Given the description of an element on the screen output the (x, y) to click on. 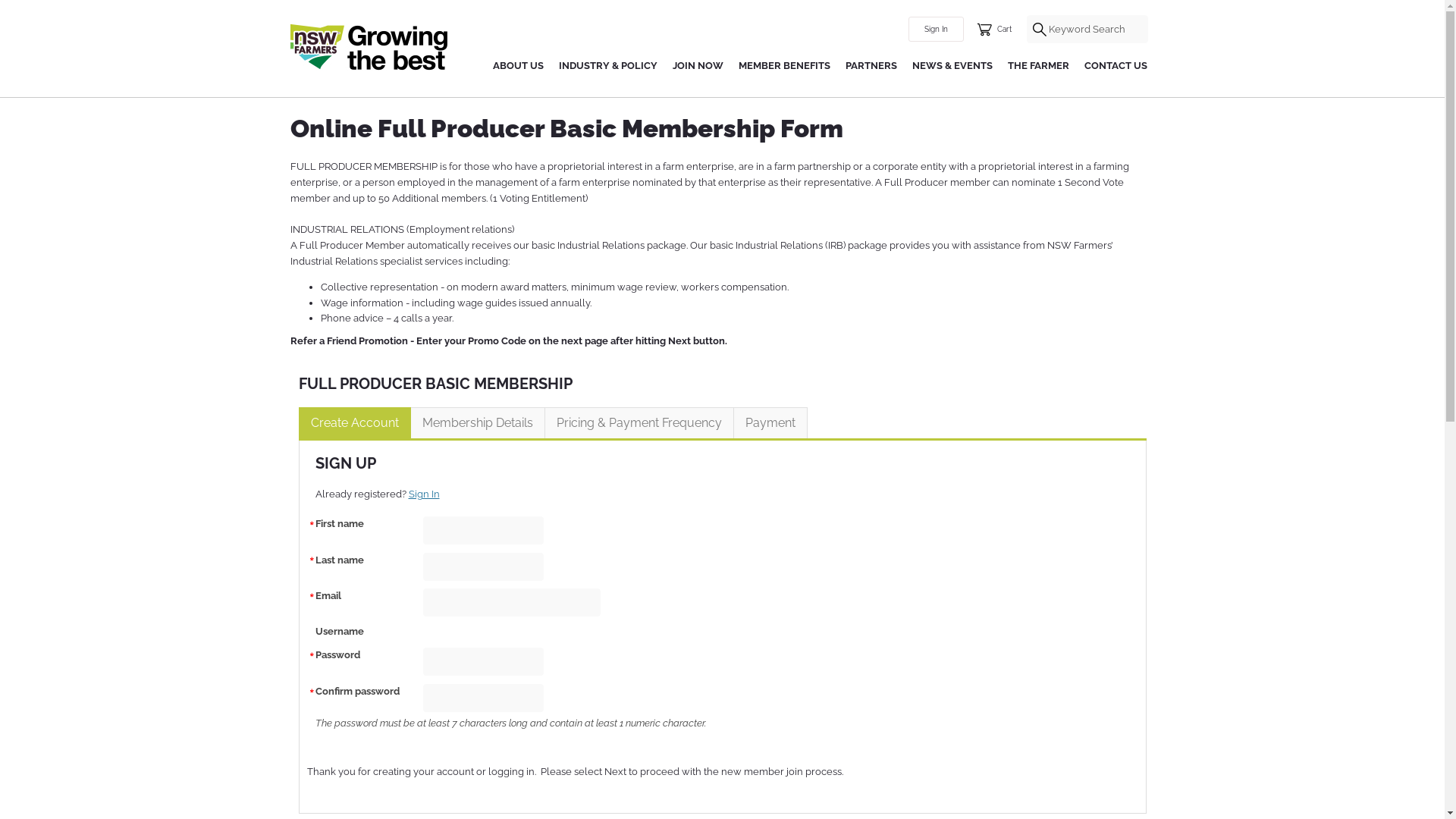
Cart Element type: text (993, 29)
INDUSTRY & POLICY Element type: text (607, 65)
Sign In Element type: text (423, 493)
JOIN NOW Element type: text (697, 65)
NEWS & EVENTS Element type: text (951, 65)
CONTACT US Element type: text (1115, 65)
MEMBER BENEFITS Element type: text (784, 65)
ABOUT US Element type: text (518, 65)
Sign In Element type: text (935, 28)
Membership Details Element type: text (476, 422)
PARTNERS Element type: text (870, 65)
Home Element type: hover (367, 45)
Go Element type: text (23, 16)
Create Account Element type: text (354, 422)
THE FARMER Element type: text (1037, 65)
Pricing & Payment Frequency Element type: text (639, 422)
Payment Element type: text (769, 422)
Refresh Element type: text (21, 9)
